Given the description of an element on the screen output the (x, y) to click on. 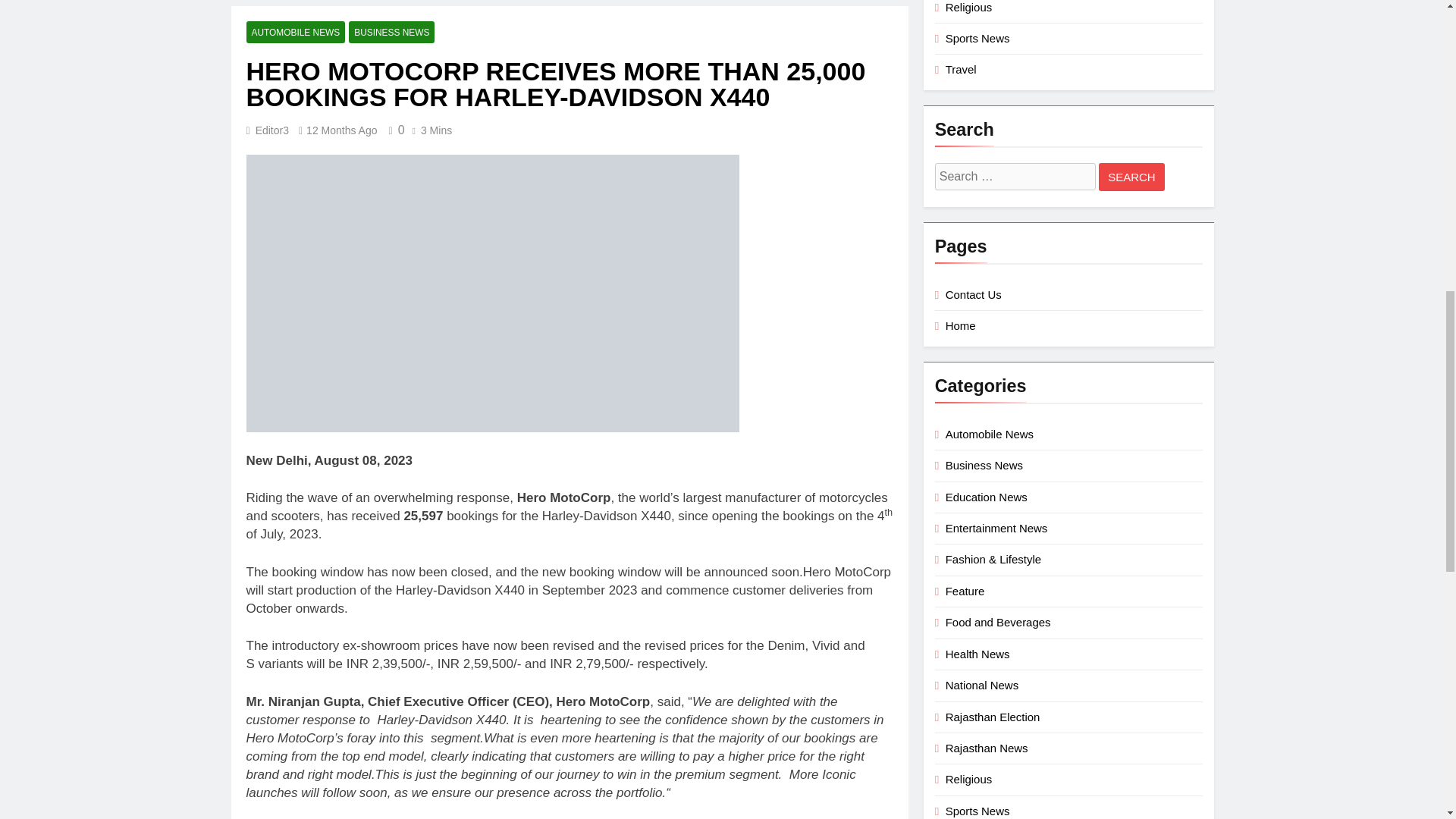
Search (1131, 176)
Search (1131, 176)
